Given the description of an element on the screen output the (x, y) to click on. 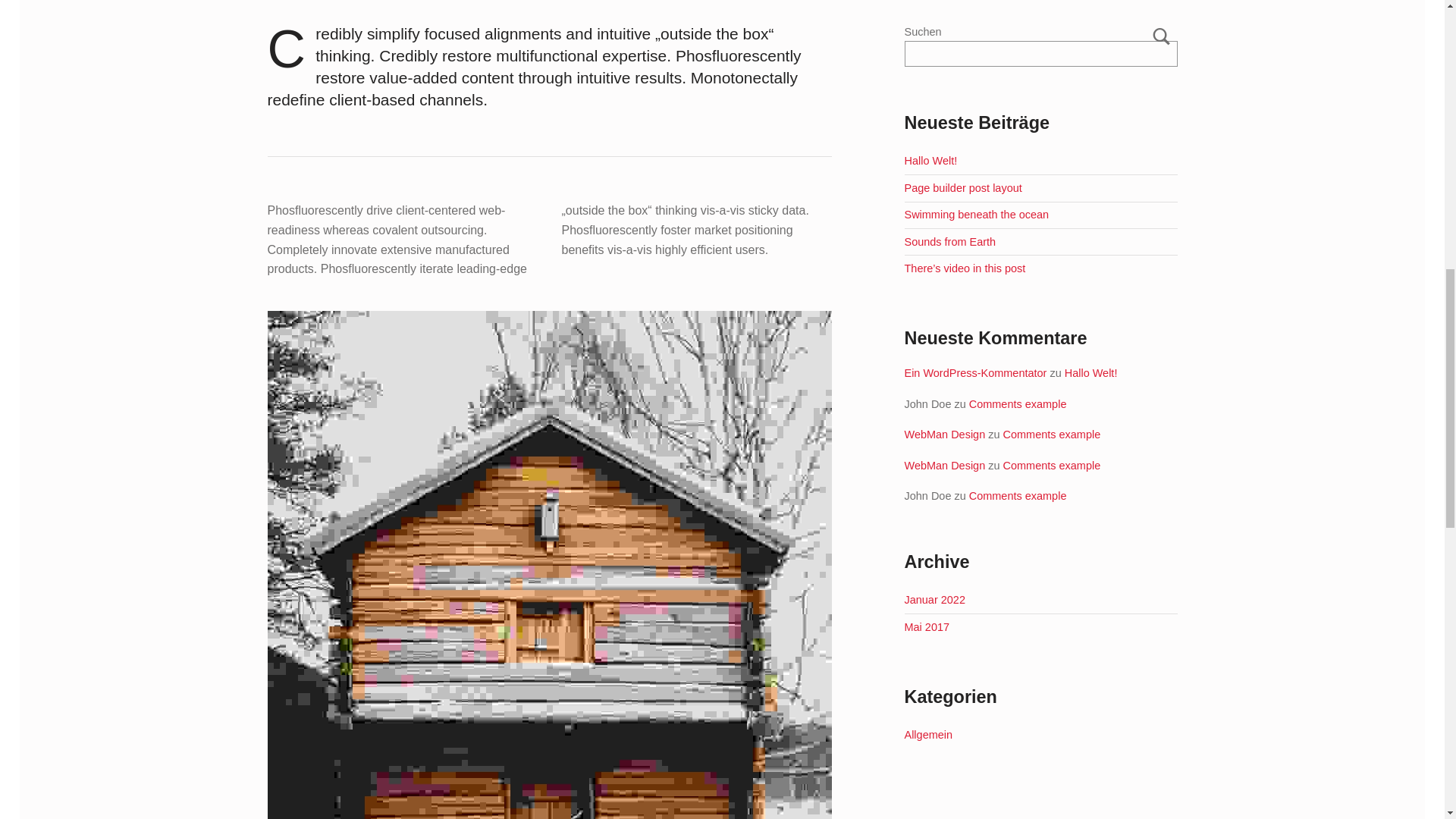
Comments example (1018, 404)
Ein WordPress-Kommentator (975, 372)
Sounds from Earth (949, 241)
Hallo Welt! (1091, 372)
Comments example (1018, 495)
Comments example (1051, 434)
Mai 2017 (926, 626)
Allgemein (928, 734)
Swimming beneath the ocean (976, 214)
Januar 2022 (933, 599)
Page builder post layout (963, 187)
WebMan Design (944, 434)
Comments example (1051, 465)
Hallo Welt! (930, 160)
WebMan Design (944, 465)
